Given the description of an element on the screen output the (x, y) to click on. 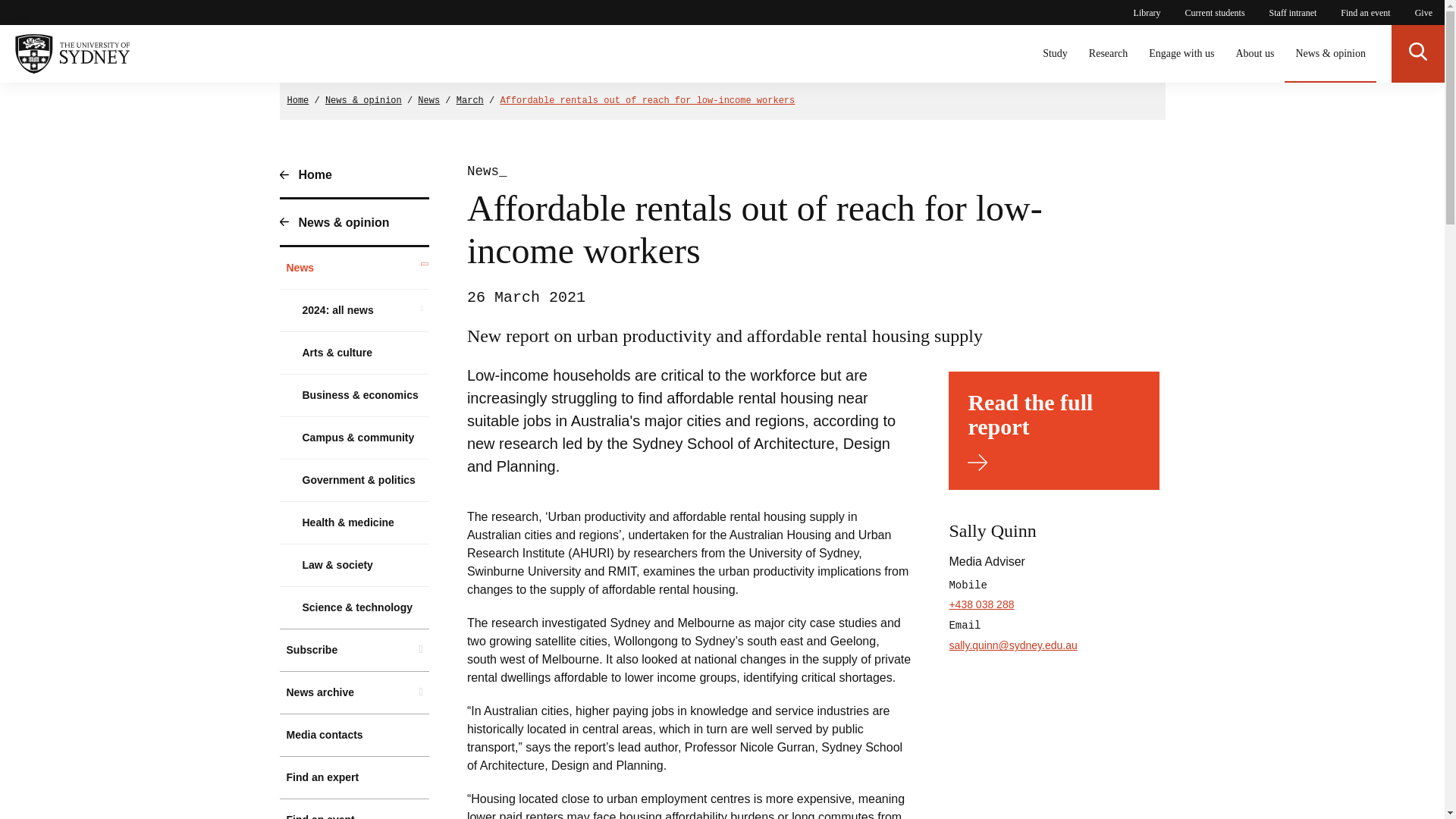
Affordable rentals out of reach for low-income workers (646, 100)
Engage with us (1181, 53)
Subscribe (354, 649)
Find an event (354, 809)
University of Sydney (64, 53)
News (428, 100)
2024: all news (354, 310)
News (354, 268)
About us (1254, 53)
Read the full report (1053, 430)
